Given the description of an element on the screen output the (x, y) to click on. 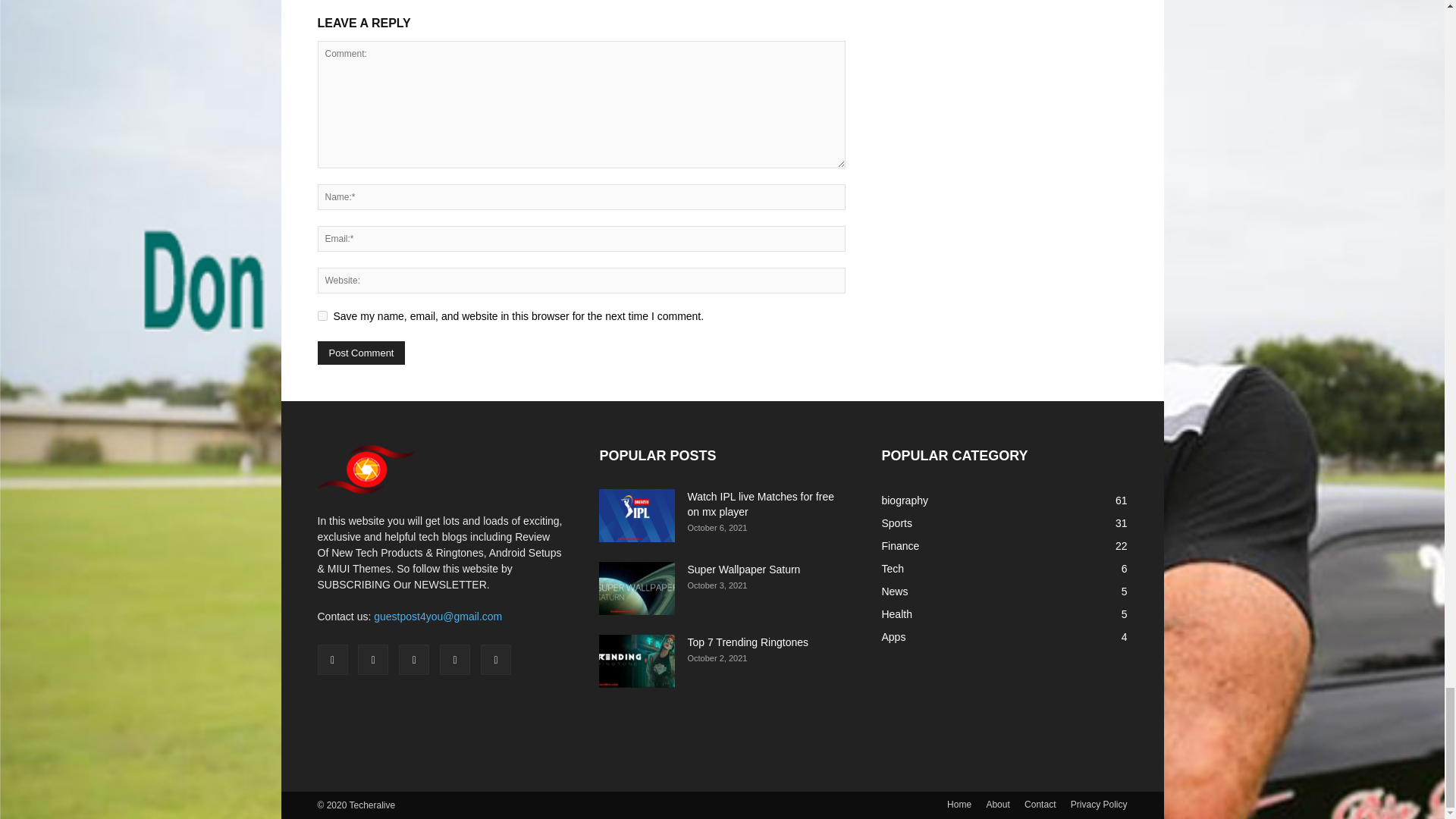
Post Comment (360, 352)
yes (321, 316)
